Given the description of an element on the screen output the (x, y) to click on. 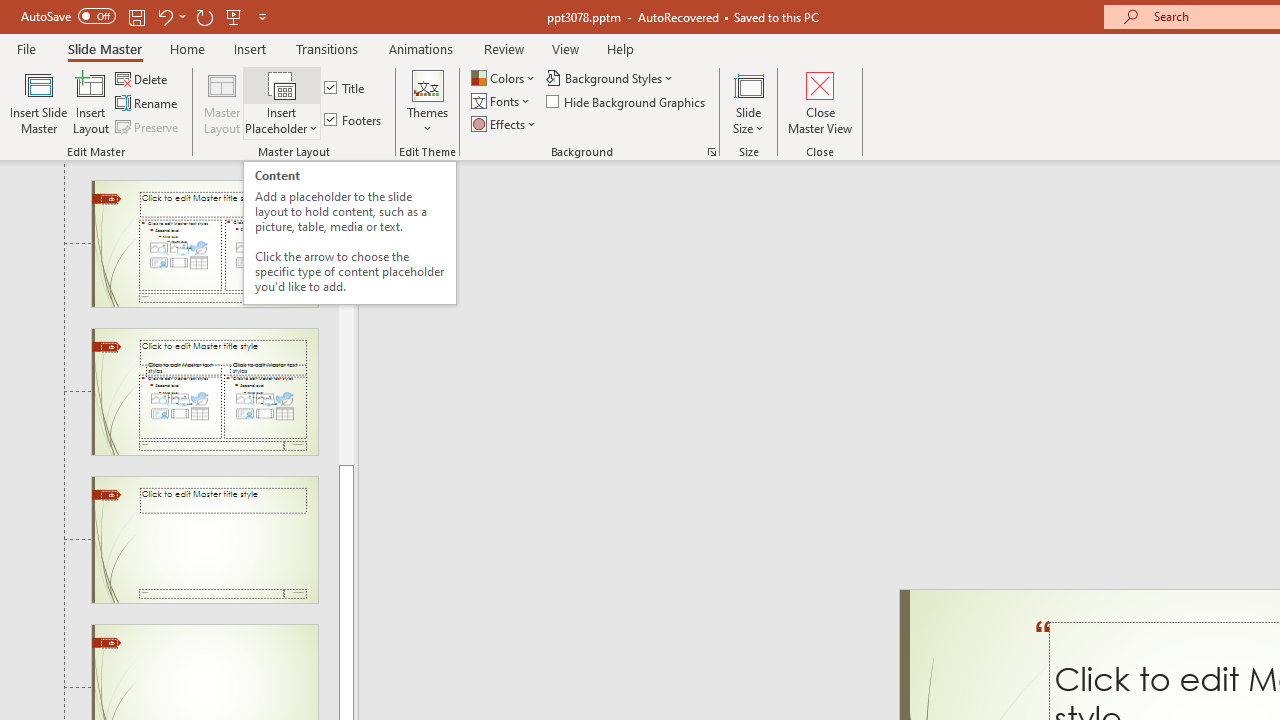
Insert Slide Master (38, 102)
Rename (148, 103)
Slide Comparison Layout: used by no slides (204, 392)
Slide Title Only Layout: used by no slides (204, 539)
Colors (504, 78)
Insert Placeholder (282, 102)
Preserve (148, 126)
Footers (354, 119)
